Given the description of an element on the screen output the (x, y) to click on. 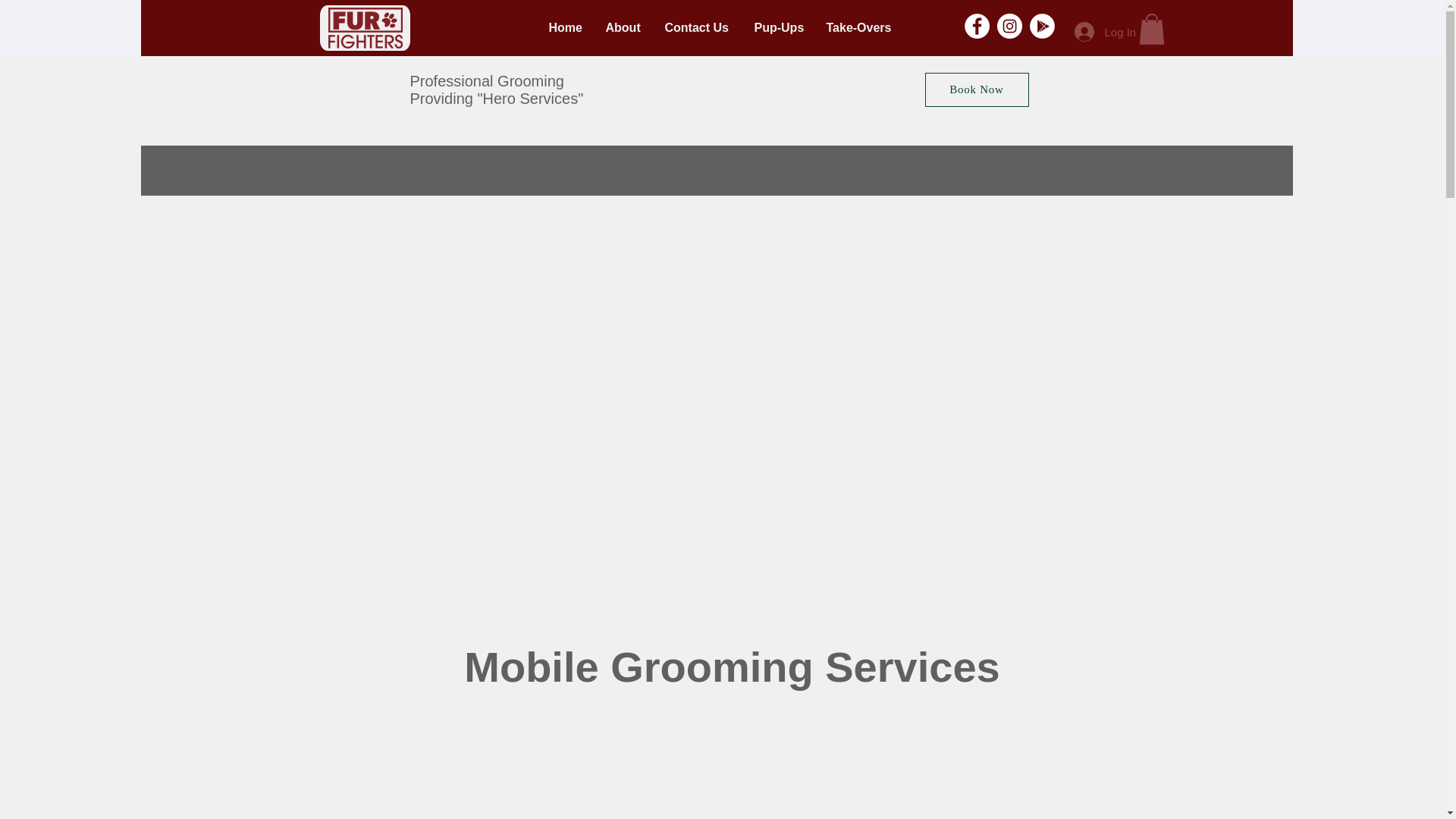
Pup-Ups (778, 27)
About (623, 27)
Log In (1098, 31)
Book Now (976, 89)
Home (565, 27)
Contact Us (697, 27)
Take-Overs (859, 27)
